Given the description of an element on the screen output the (x, y) to click on. 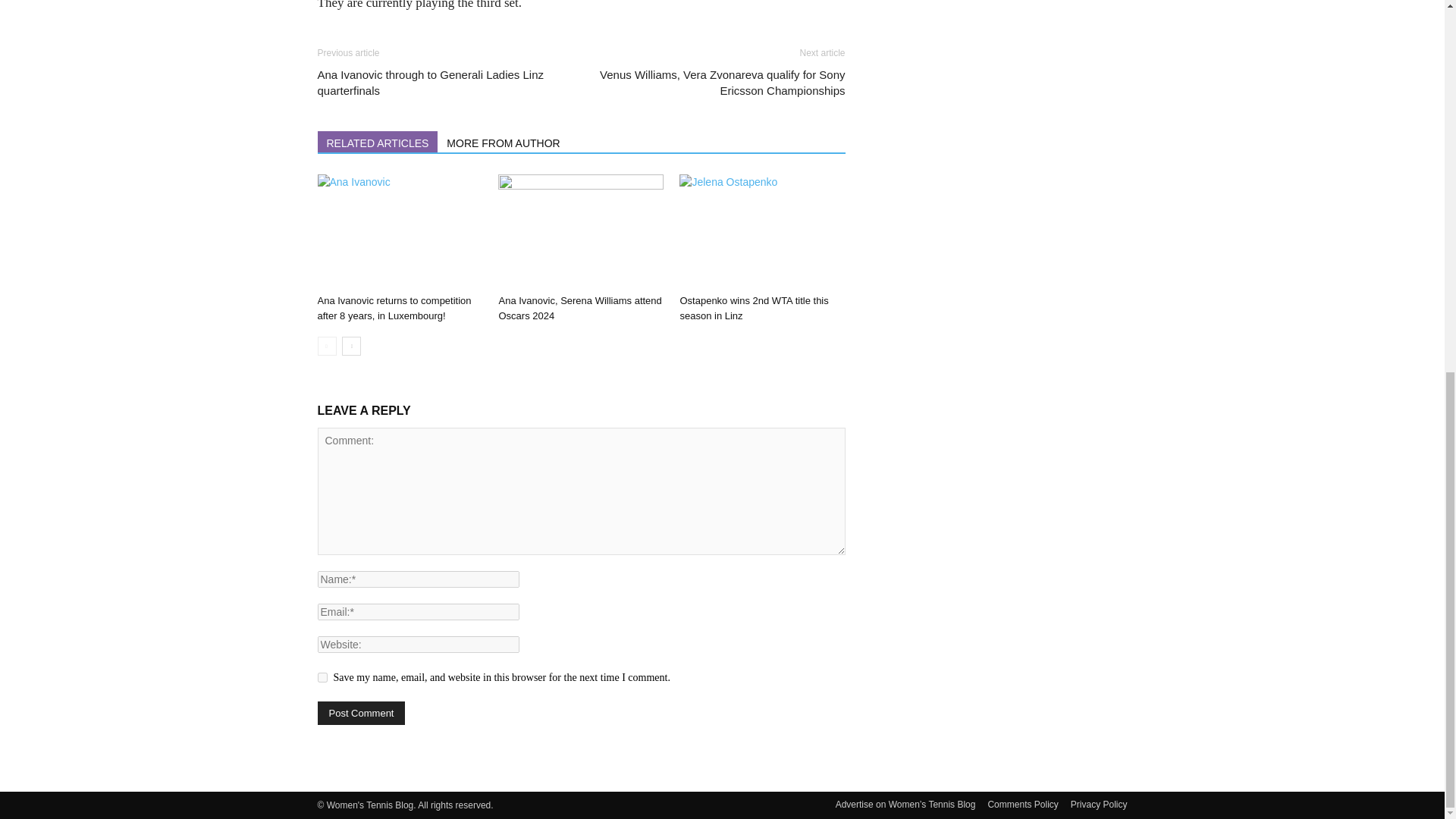
Ana Ivanovic, Serena Williams attend Oscars 2024 (580, 231)
Ana Ivanovic, Serena Williams attend Oscars 2024 (579, 307)
Ostapenko wins 2nd WTA title this season in Linz (761, 231)
Post Comment (360, 712)
Ostapenko wins 2nd WTA title this season in Linz (753, 307)
yes (321, 677)
